Given the description of an element on the screen output the (x, y) to click on. 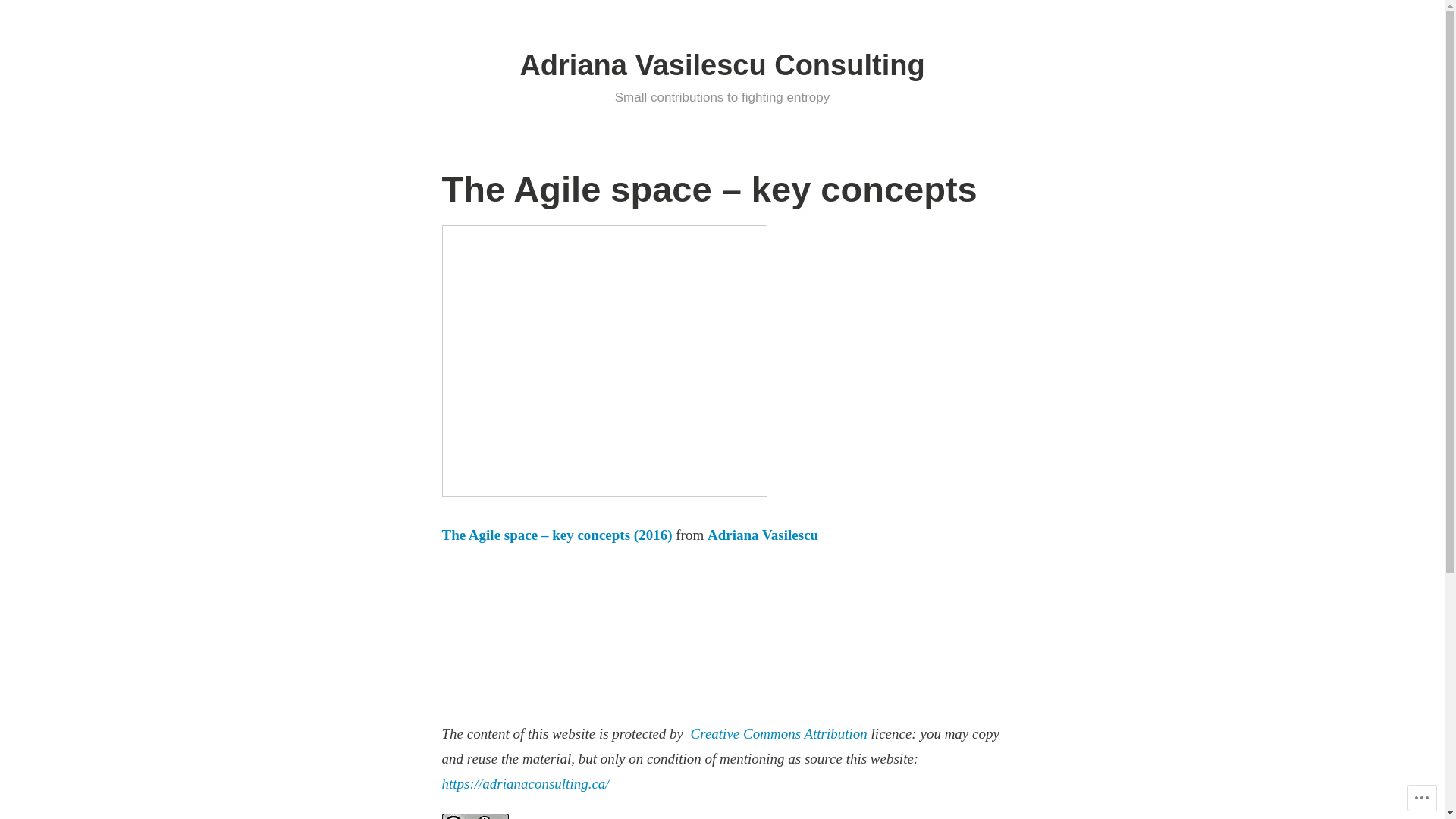
https://adrianaconsulting.ca/ Element type: text (524, 783)
Adriana Vasilescu Consulting Element type: text (721, 65)
Adriana Vasilescu Element type: text (762, 534)
Creative Commons Attribution Element type: text (778, 733)
The Agile space - key concepts (2016)  Element type: hover (603, 360)
